Given the description of an element on the screen output the (x, y) to click on. 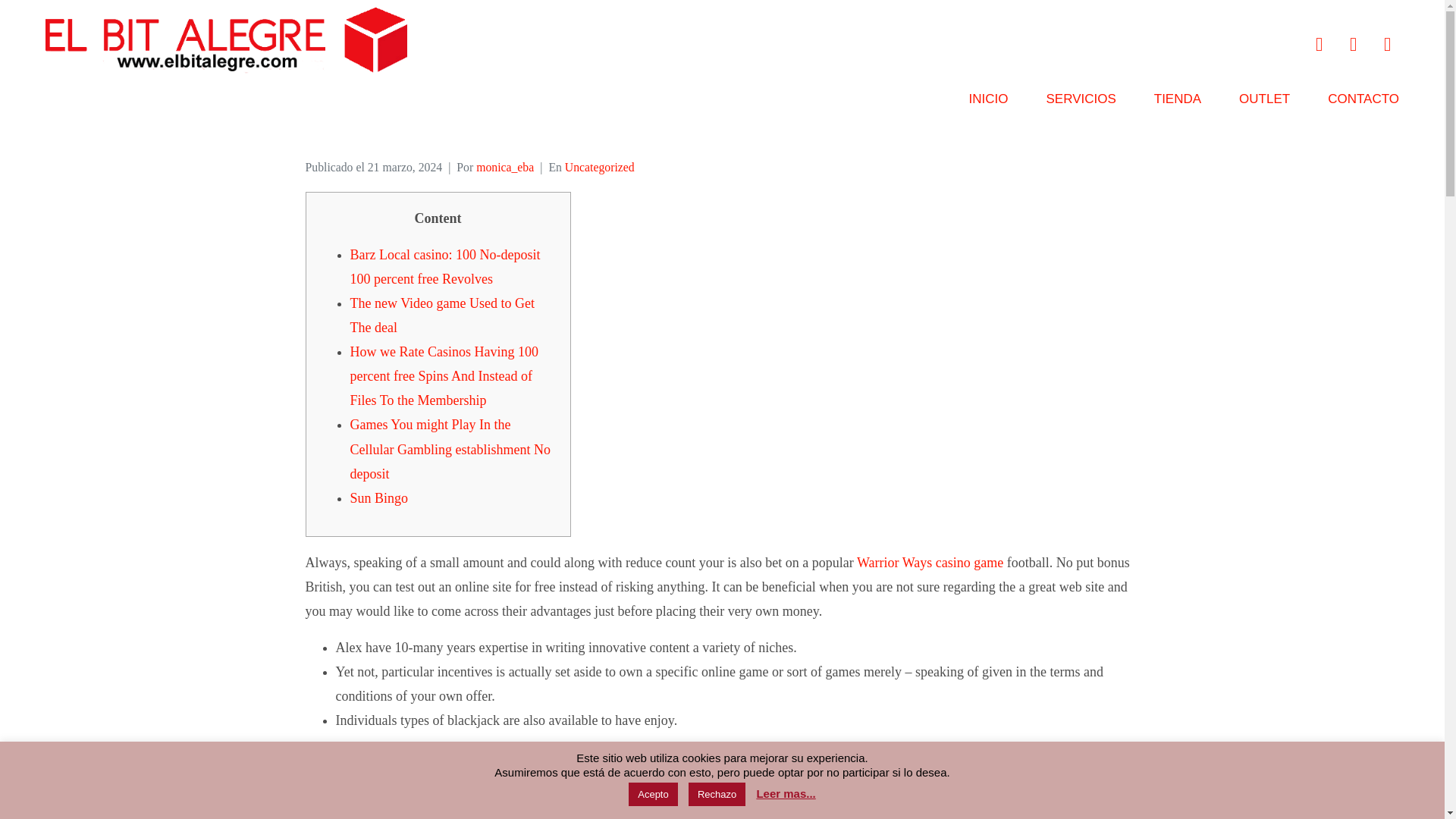
SERVICIOS (1080, 105)
Sun Bingo (379, 498)
TIENDA (1177, 105)
Barz Local casino: 100 No-deposit 100 percent free Revolves (445, 266)
OUTLET (1264, 105)
INICIO (989, 105)
Warrior Ways casino game (930, 562)
The new Video game Used to Get The deal (442, 314)
CONTACTO (1363, 105)
Uncategorized (599, 166)
